Given the description of an element on the screen output the (x, y) to click on. 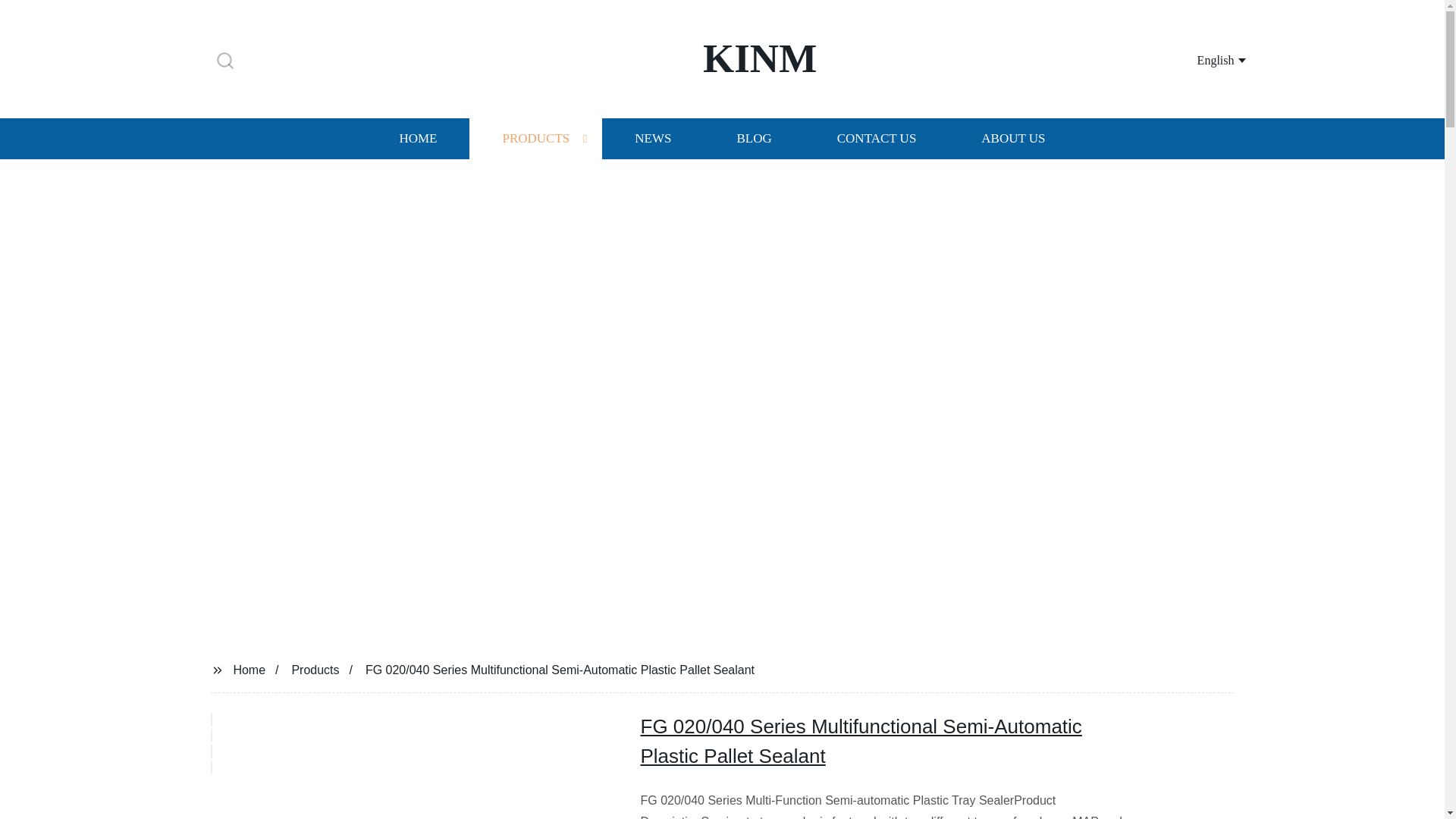
HOME (417, 137)
CONTACT US (877, 137)
PRODUCTS (535, 137)
English (1203, 59)
ABOUT US (1013, 137)
Products (315, 668)
BLOG (753, 137)
NEWS (652, 137)
Home (248, 668)
English (1203, 59)
